Given the description of an element on the screen output the (x, y) to click on. 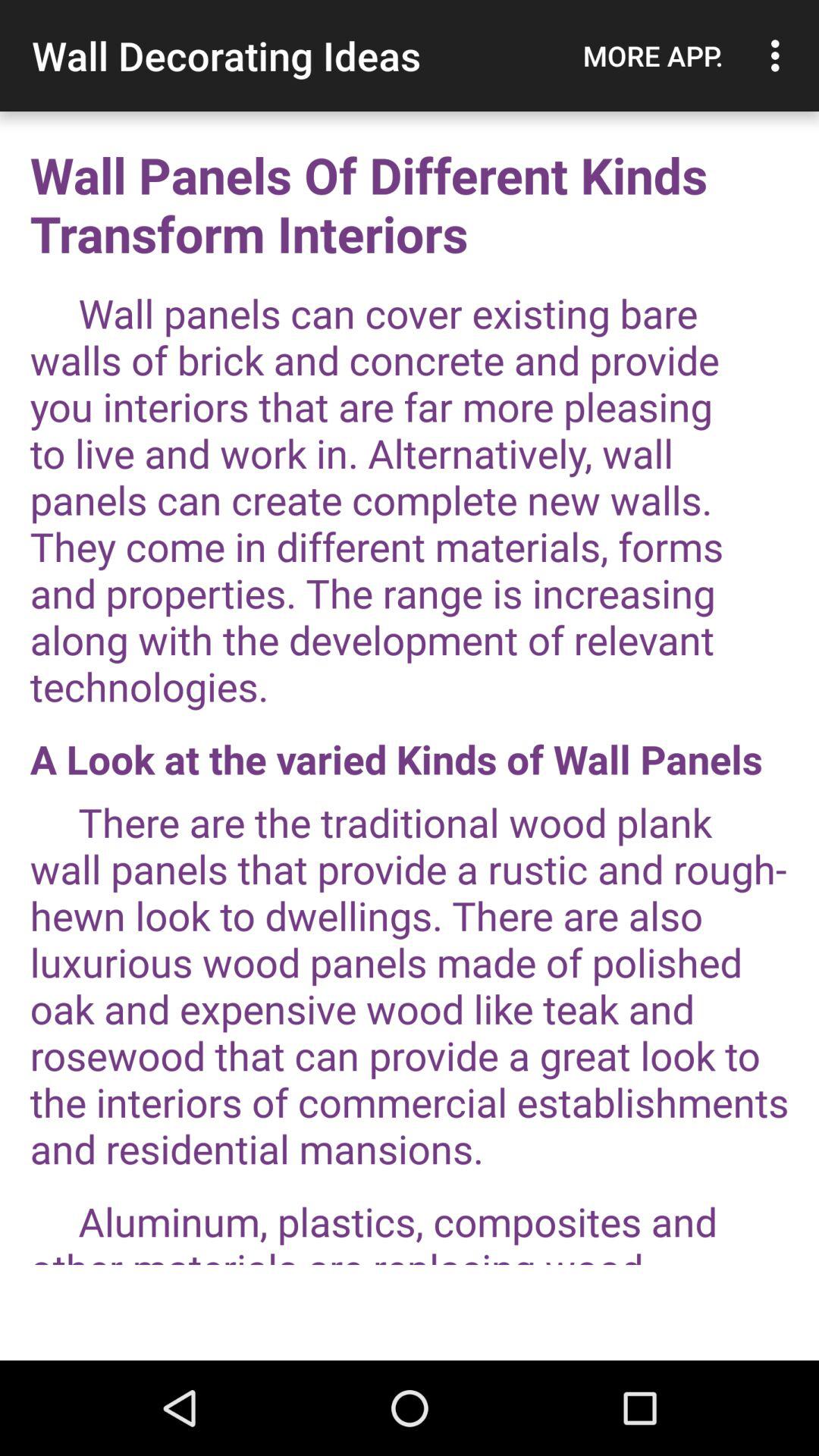
turn on icon above the wall panels of (653, 55)
